Given the description of an element on the screen output the (x, y) to click on. 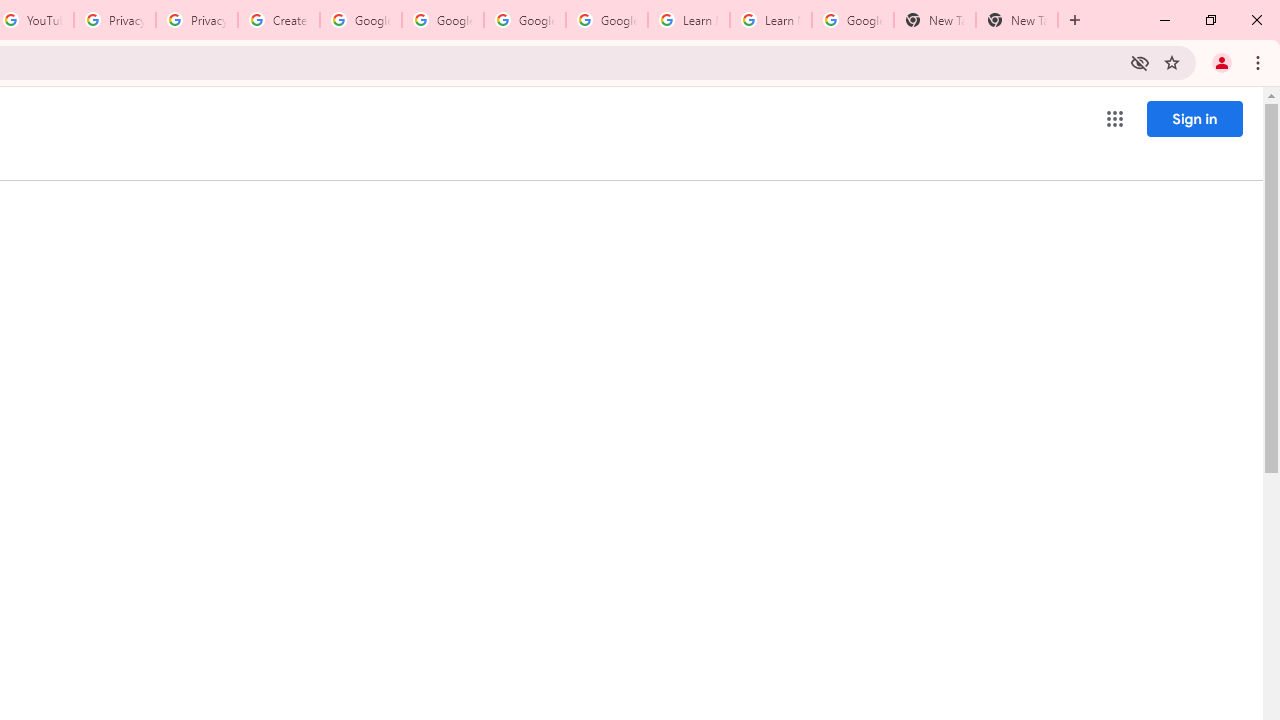
Google apps (1114, 118)
Google Account Help (606, 20)
New Tab (1016, 20)
Google Account (852, 20)
Google Account Help (360, 20)
Sign in (1194, 118)
Third-party cookies blocked (1139, 62)
New Tab (934, 20)
Google Account Help (524, 20)
